Given the description of an element on the screen output the (x, y) to click on. 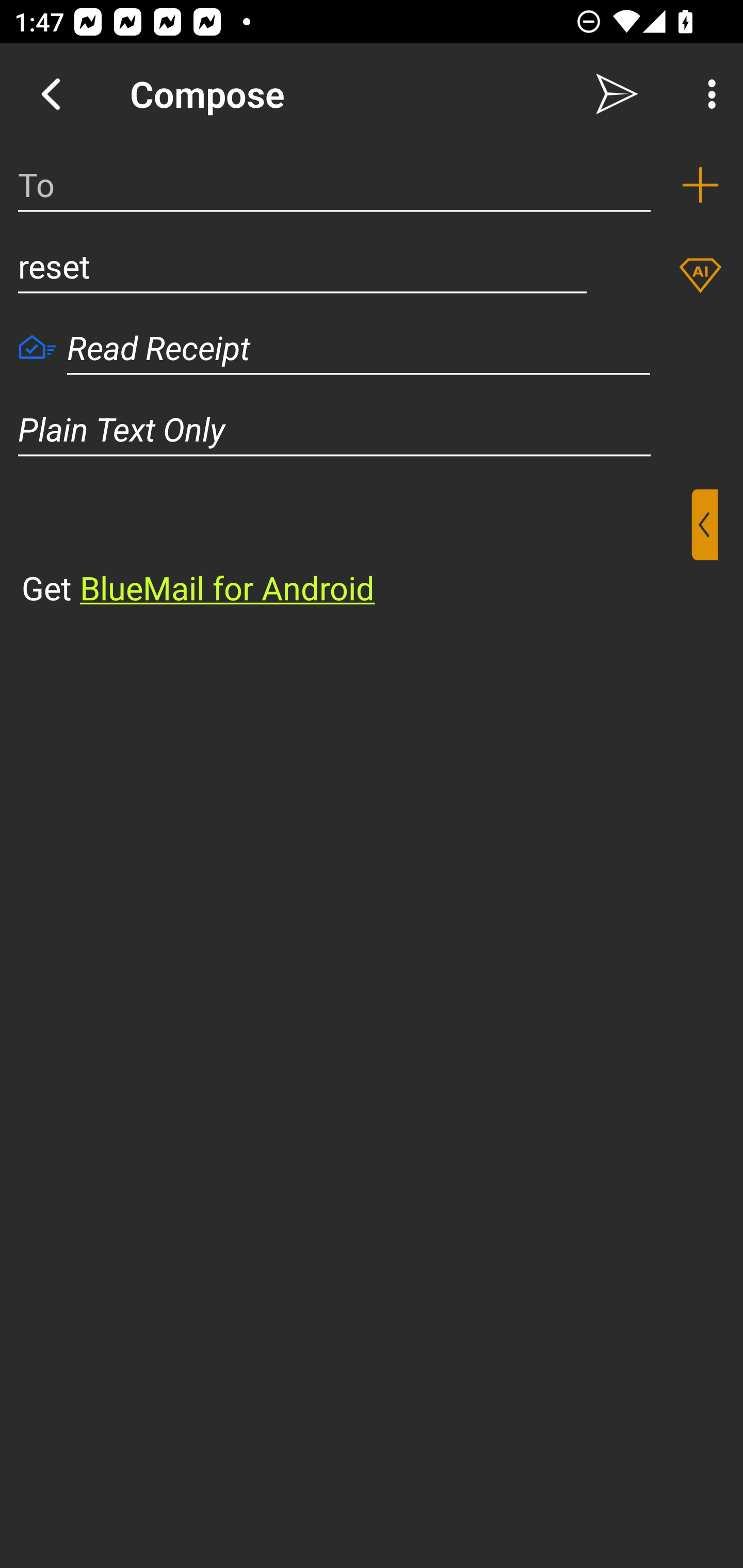
Navigate up (50, 93)
Send (616, 93)
More Options (706, 93)
To (334, 184)
Add recipient (To) (699, 184)
reset (302, 266)
Read Receipt (358, 347)
Read Receipt (37, 348)
Plain Text Only (371, 429)


⁣Get BlueMail for Android ​ (355, 549)
